Given the description of an element on the screen output the (x, y) to click on. 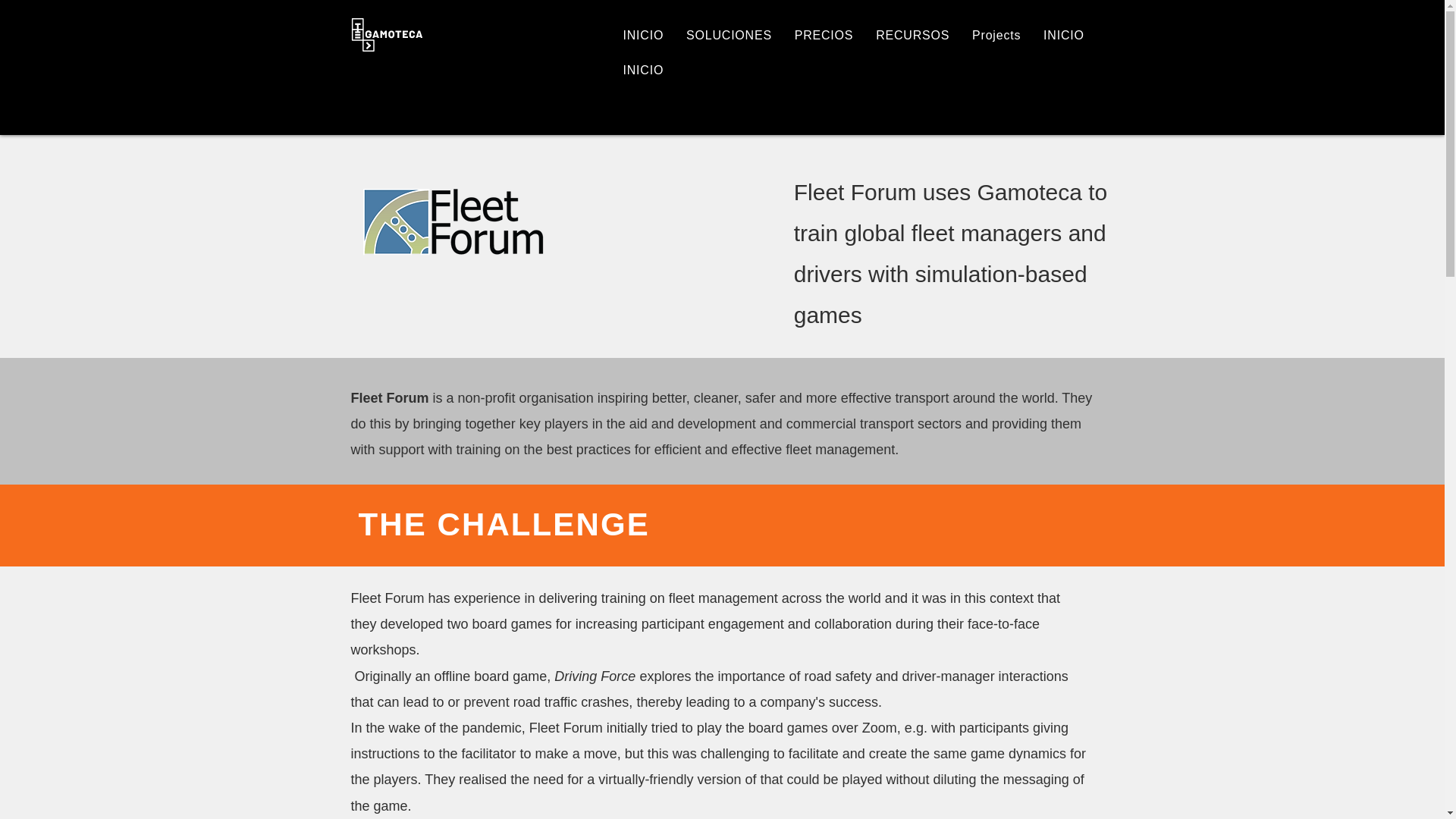
INICIO (643, 35)
INICIO (854, 70)
INICIO (1064, 35)
PRECIOS (824, 35)
Projects (996, 35)
logo.png (453, 222)
